Given the description of an element on the screen output the (x, y) to click on. 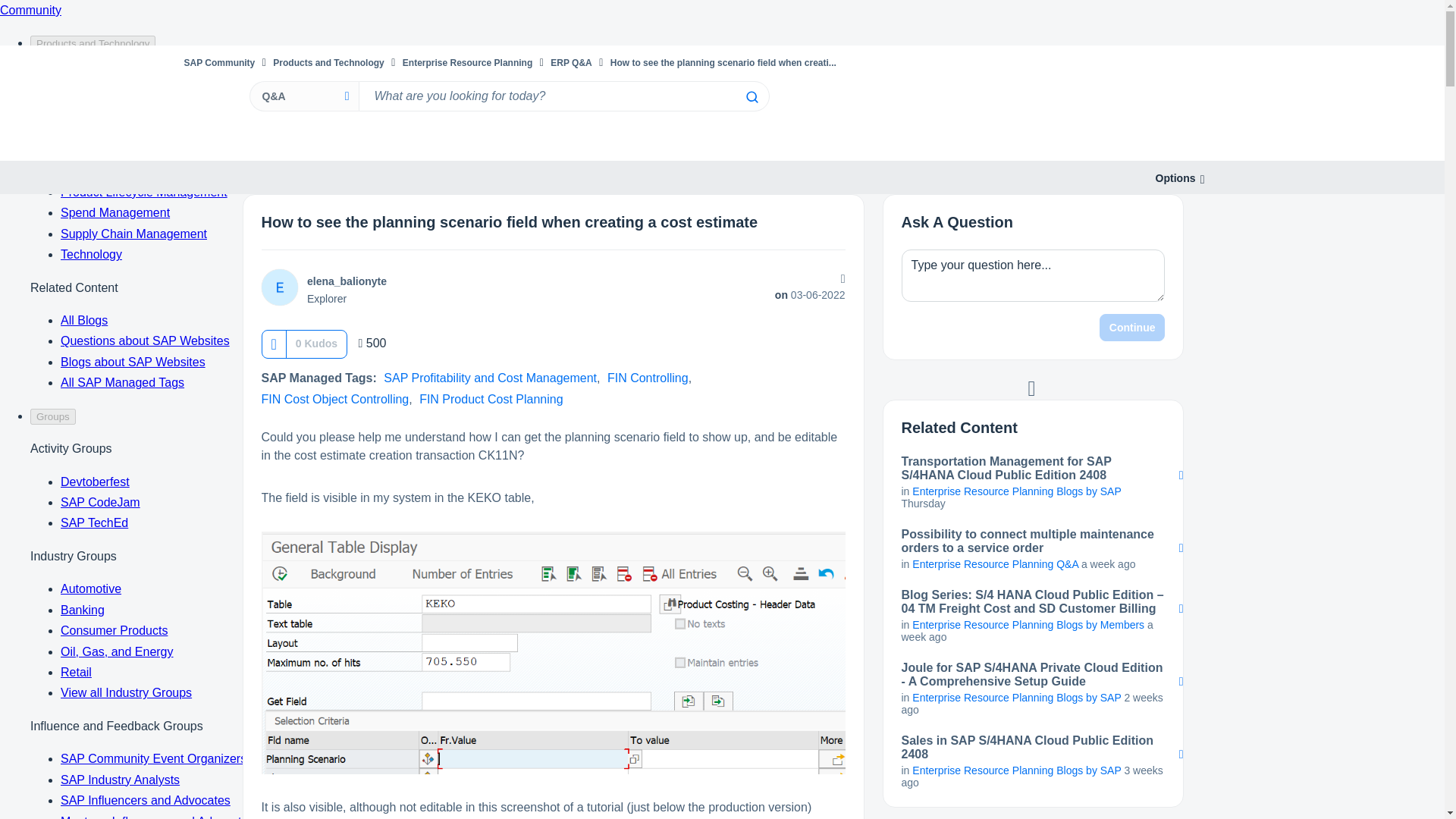
FIN Product Cost Planning (490, 399)
Search (750, 96)
FIN Controlling (647, 377)
SAP Profitability and Cost Management (490, 377)
Click here to give kudos to this post. (274, 343)
Search Granularity (303, 96)
Search (750, 96)
Options (1176, 178)
SAP Community (218, 62)
Search (563, 96)
